Given the description of an element on the screen output the (x, y) to click on. 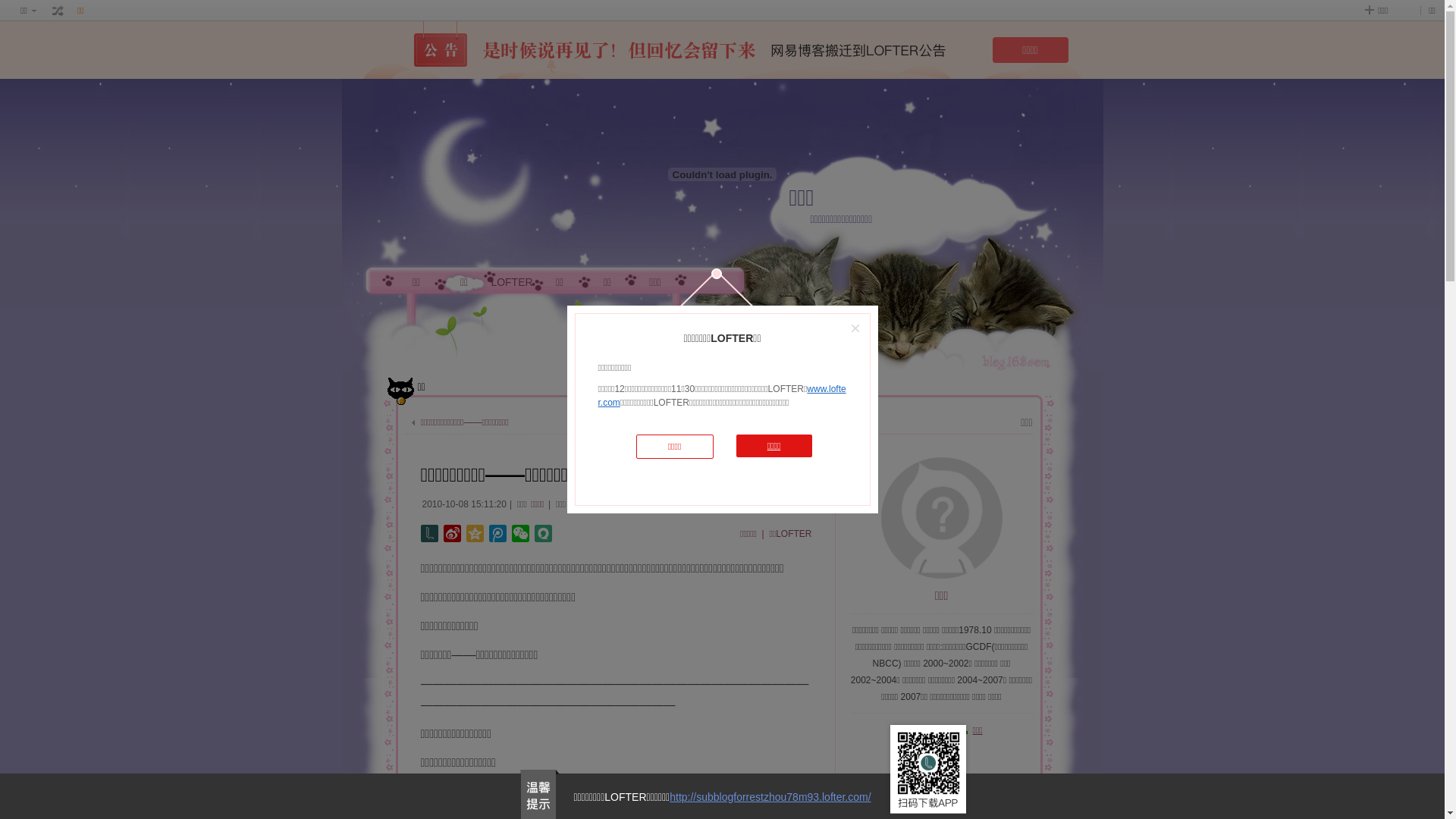
LOFTER Element type: text (512, 281)
  Element type: text (58, 10)
www.lofter.com Element type: text (721, 395)
http://subblogforrestzhou78m93.lofter.com/ Element type: text (769, 796)
